Given the description of an element on the screen output the (x, y) to click on. 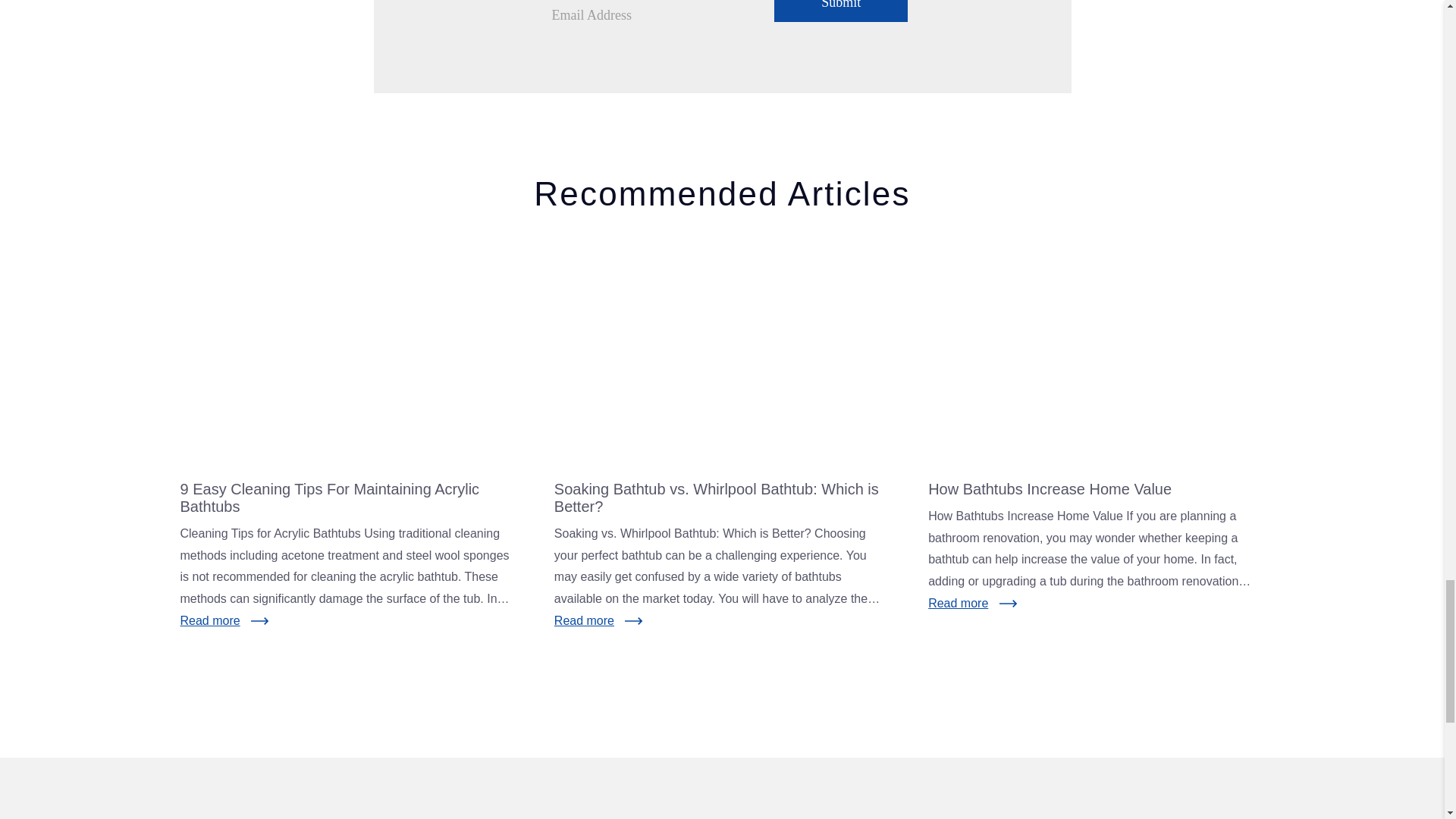
How Bathtubs Increase Home Value (1095, 355)
9 Easy Cleaning Tips For Maintaining Acrylic Bathtubs (348, 355)
Soaking Bathtub vs. Whirlpool Bathtub: Which is Better? (721, 355)
Submit (840, 11)
